Given the description of an element on the screen output the (x, y) to click on. 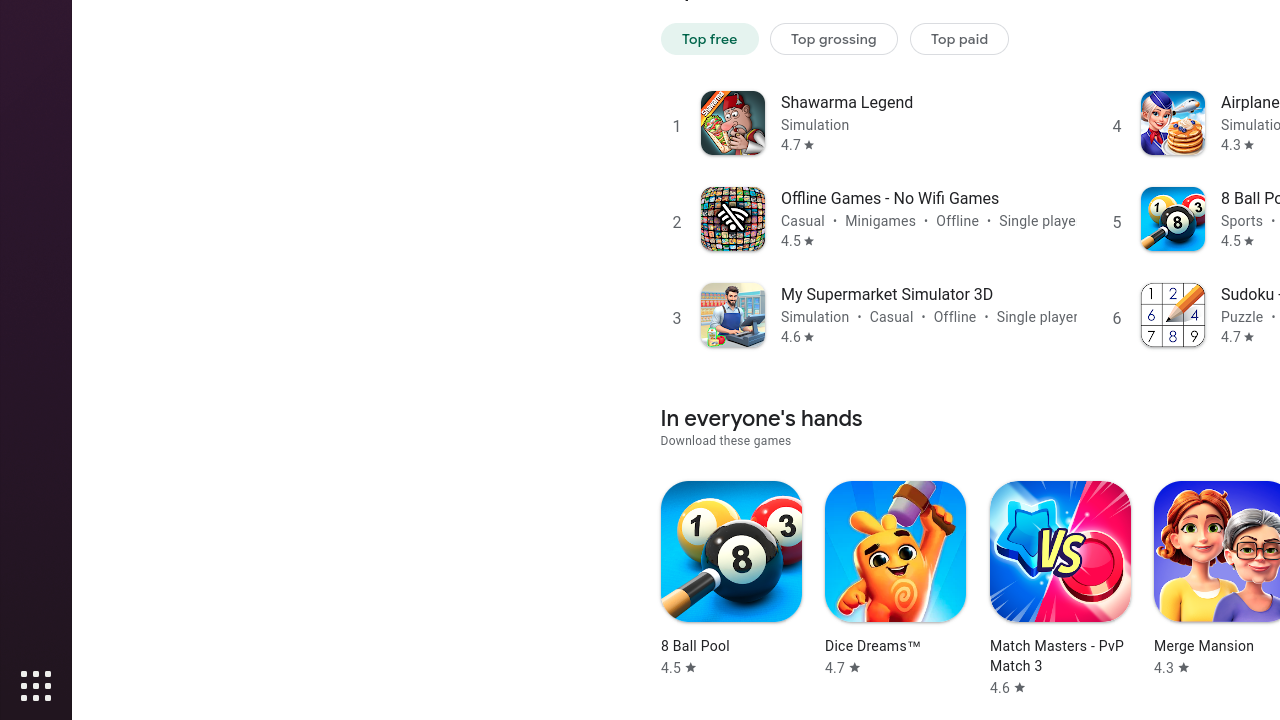
Rank 2 Offline Games - No Wifi Games Casual • Minigames • Offline • Single player Rated 4.5 stars out of five stars Element type: link (868, 218)
Top paid Element type: toggle-button (960, 38)
Top free Element type: toggle-button (709, 38)
Dice Dreams™️ Rated 4.7 stars out of five stars Element type: link (895, 579)
Match Masters ‎- PvP Match 3 Rated 4.6 stars out of five stars Element type: link (1060, 589)
